Given the description of an element on the screen output the (x, y) to click on. 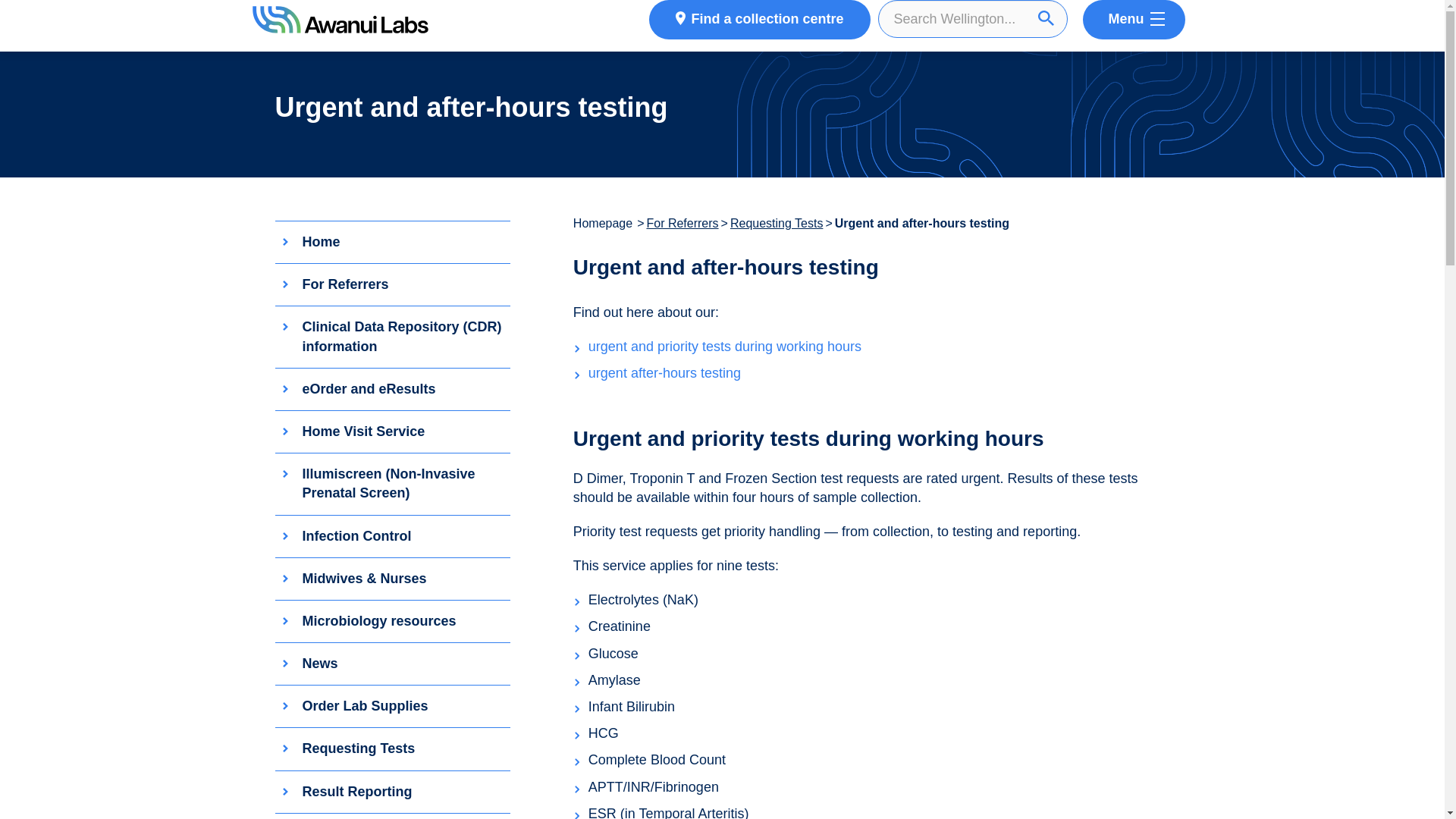
For Referrers (681, 223)
Menu (1134, 19)
Search (1045, 17)
SEARCH WELLINGTON (976, 18)
Requesting Tests (776, 223)
Find a collection centre (759, 19)
Homepage (603, 223)
Urgent and after-hours testing (921, 223)
Search (1045, 17)
Search (1045, 17)
